Given the description of an element on the screen output the (x, y) to click on. 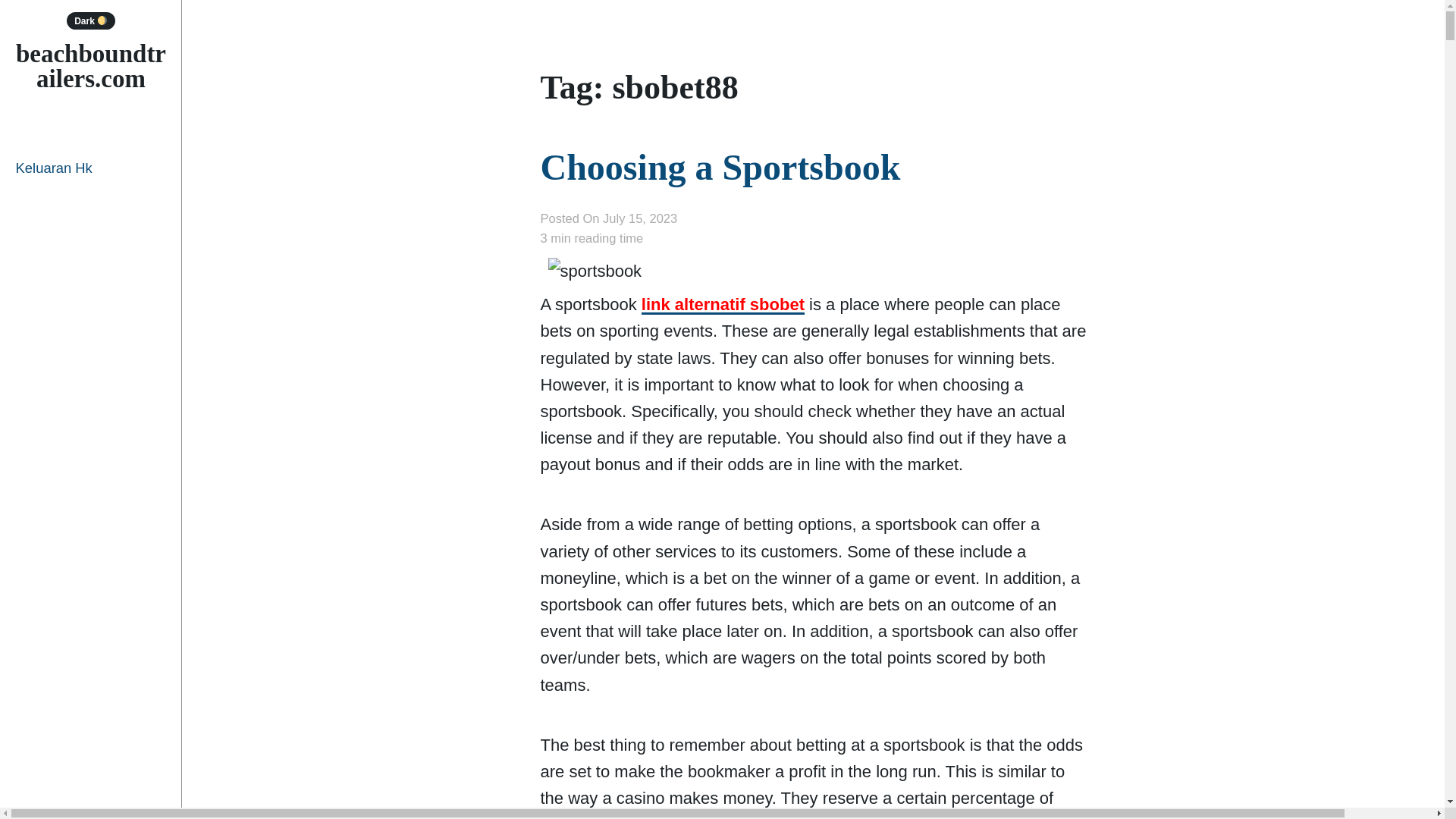
link alternatif sbobet (723, 304)
beachboundtrailers.com (90, 66)
Keluaran Hk (90, 168)
Choosing a Sportsbook (719, 167)
